Given the description of an element on the screen output the (x, y) to click on. 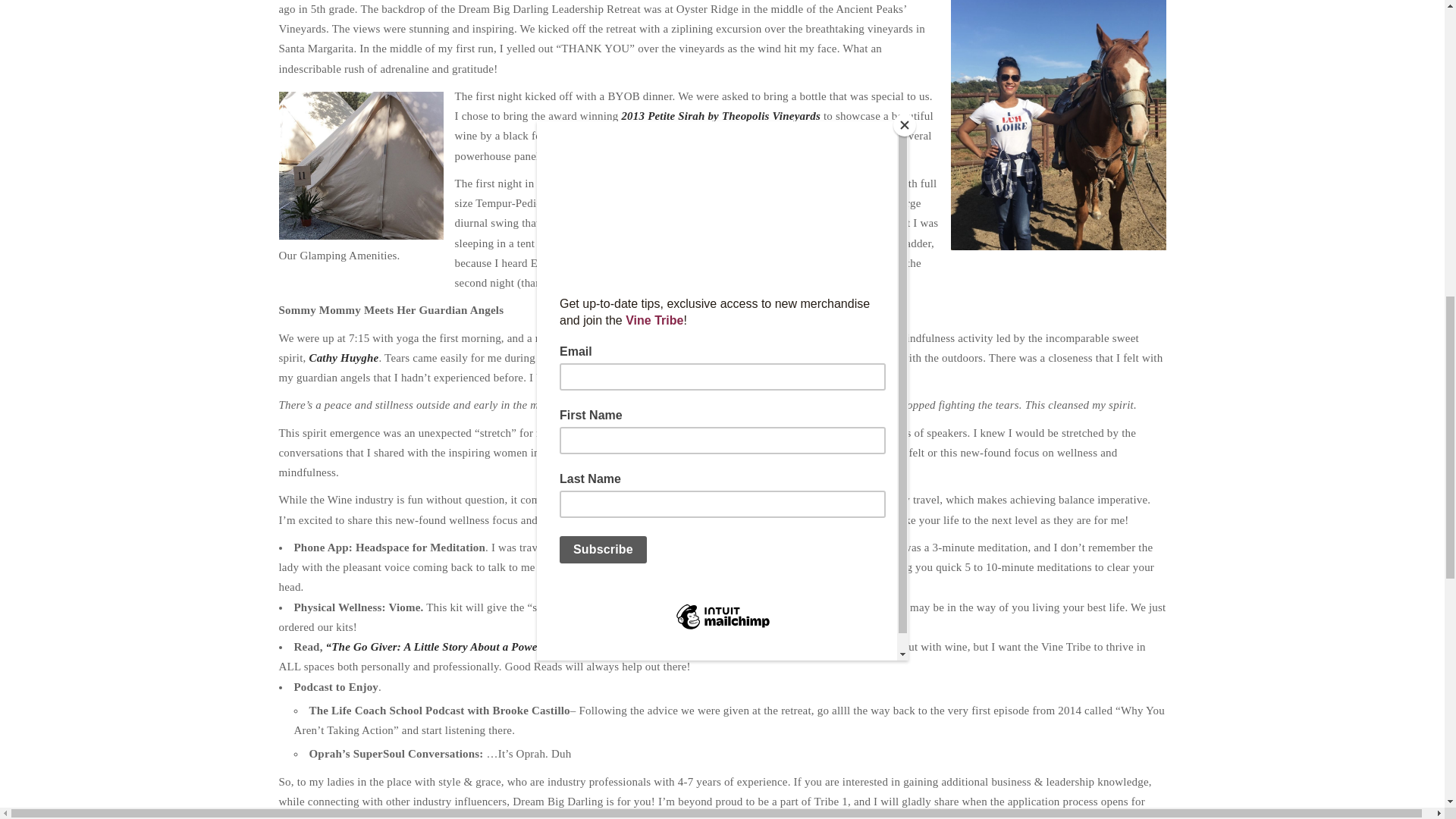
2013 Petite Sirah by Theopolis Vineyards (721, 115)
Cathy Huyghe (343, 357)
